Given the description of an element on the screen output the (x, y) to click on. 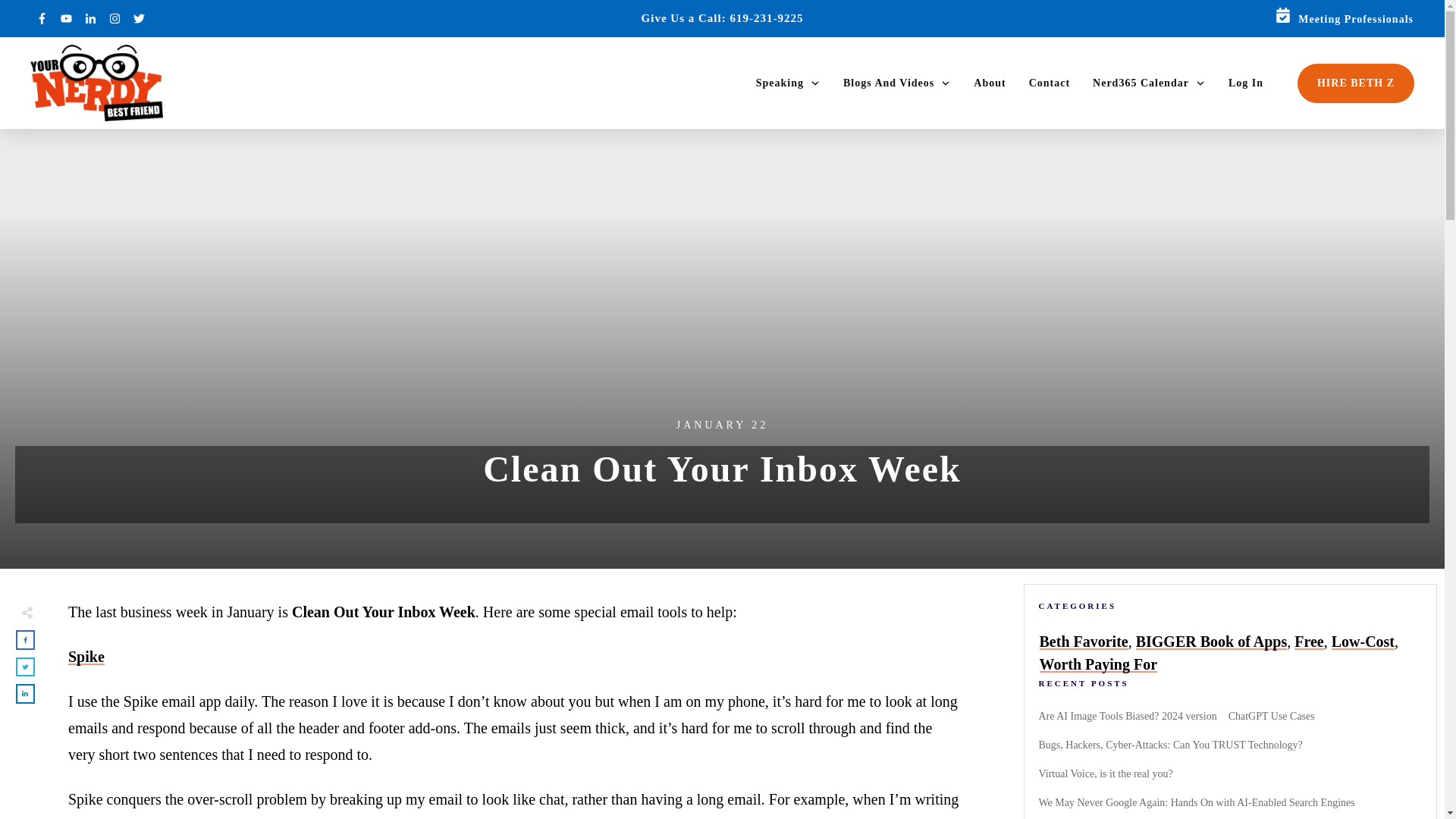
Worth Paying For (1098, 664)
Low-Cost (1363, 641)
Contact (1049, 83)
Speaking (788, 83)
BIGGER Book of Apps (1211, 641)
About (990, 83)
Beth Favorite (1082, 641)
Blogs And Videos (896, 83)
Free (1308, 641)
Log In (1245, 83)
